Given the description of an element on the screen output the (x, y) to click on. 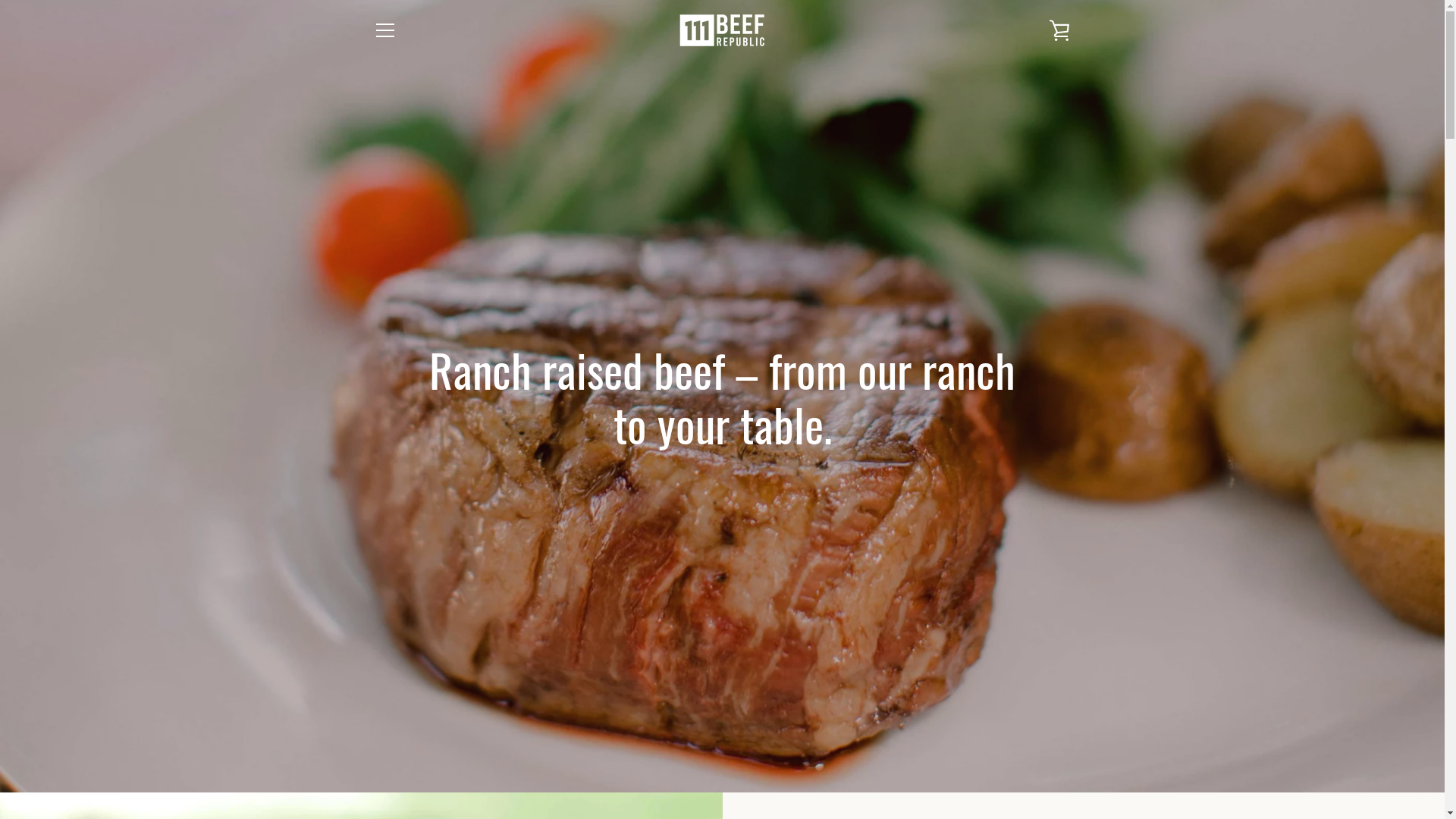
111 Beef Republic Element type: text (735, 756)
Facebook Element type: text (372, 765)
MENU Element type: text (384, 30)
SUBSCRIBE Element type: text (1031, 679)
OUR STORY Element type: text (403, 593)
SLIDE 1 Element type: text (360, 738)
VIEW CART Element type: text (1059, 30)
SLIDE 2 Element type: text (1083, 750)
Skip to content Element type: text (0, 0)
BEEF TALK Element type: text (399, 637)
Powered by Shopify Element type: text (769, 766)
Instagram Element type: text (398, 765)
OUR PRODUCTS Element type: text (414, 615)
